Given the description of an element on the screen output the (x, y) to click on. 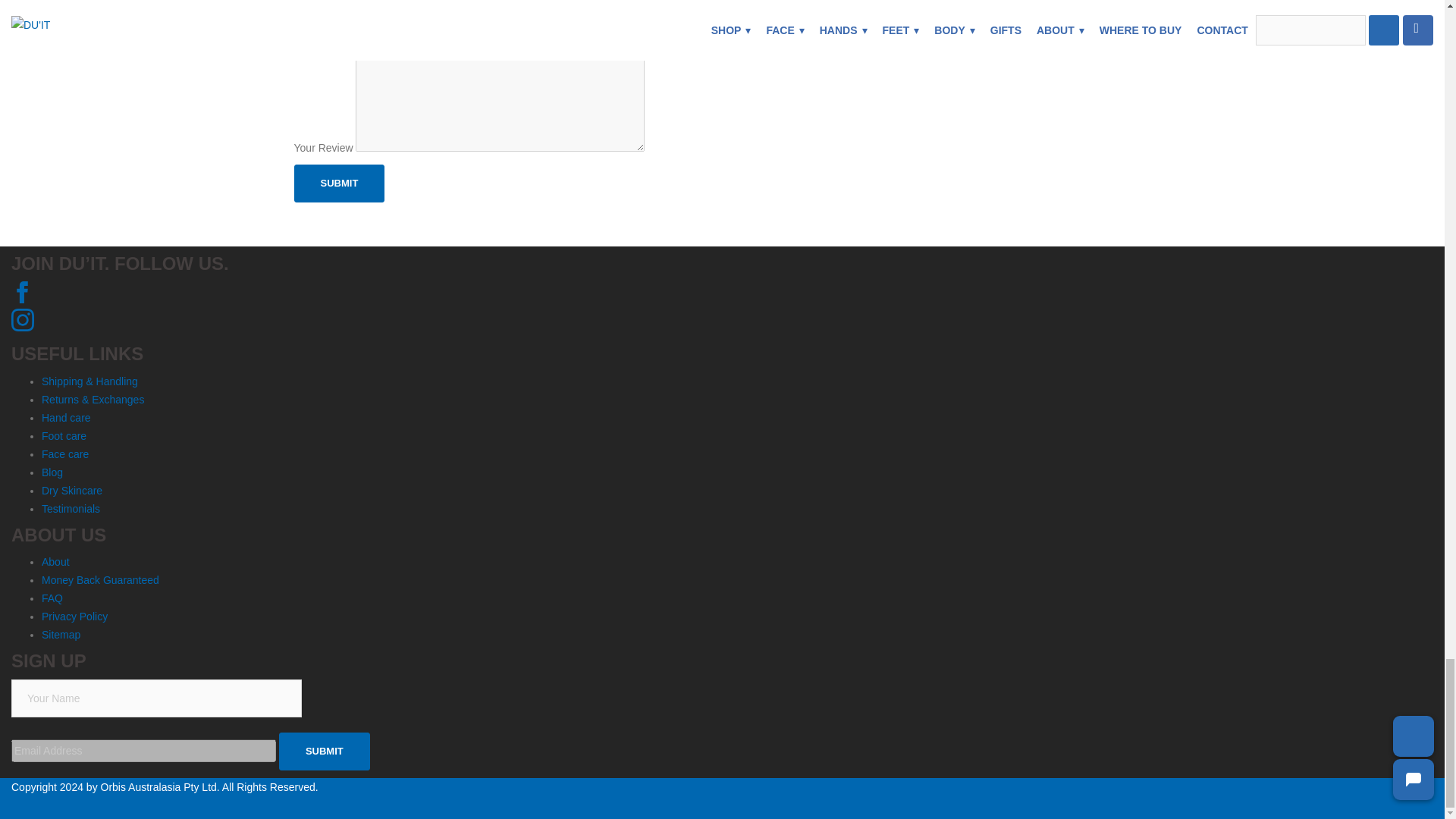
SUBMIT (324, 751)
Submit (339, 183)
